Given the description of an element on the screen output the (x, y) to click on. 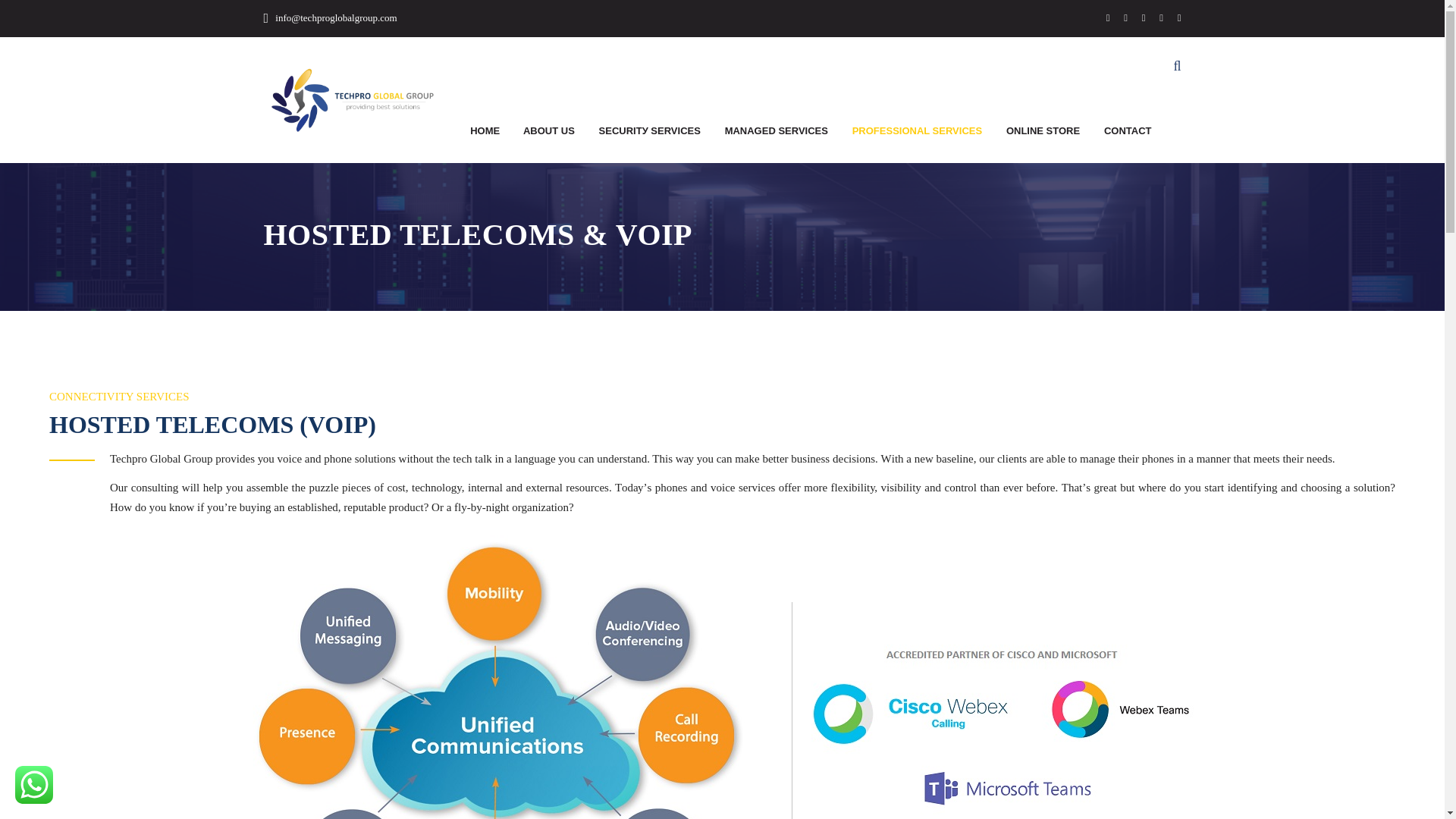
MANAGED SERVICES (776, 130)
ABOUT US (548, 130)
HOME (484, 130)
